Given the description of an element on the screen output the (x, y) to click on. 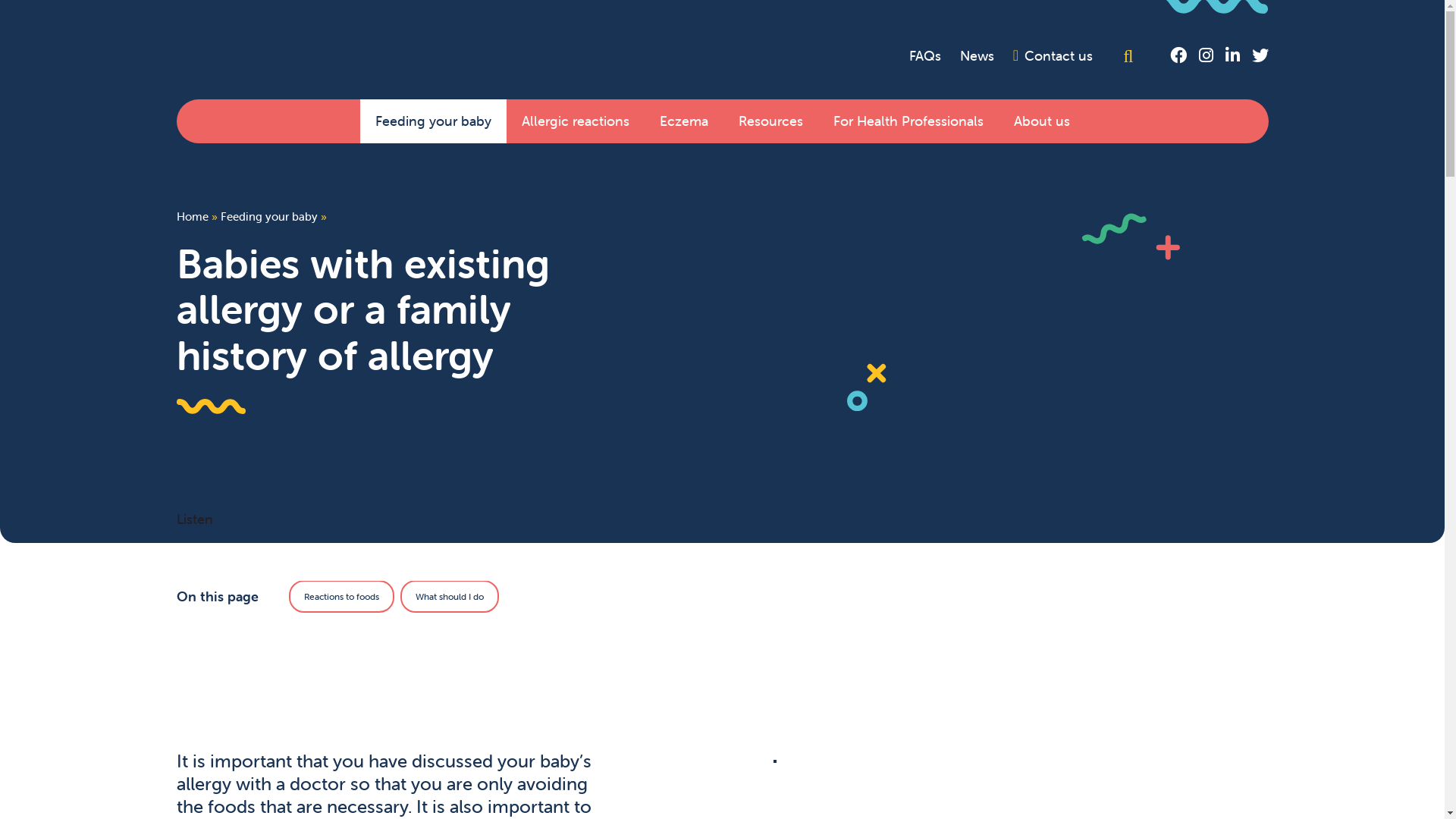
Search Element type: text (1131, 56)
Eczema Element type: text (683, 121)
Home Element type: text (191, 216)
Feeding your baby Element type: text (267, 216)
Resources Element type: text (770, 121)
Contact us Element type: text (1052, 56)
For Health Professionals Element type: text (907, 121)
Allergic reactions Element type: text (575, 121)
About us Element type: text (1040, 121)
Listen Element type: text (193, 518)
Feeding your baby Element type: text (432, 121)
News Element type: text (977, 56)
Reactions to foods Element type: text (340, 596)
FAQs Element type: text (925, 56)
What should I do Element type: text (449, 596)
